Given the description of an element on the screen output the (x, y) to click on. 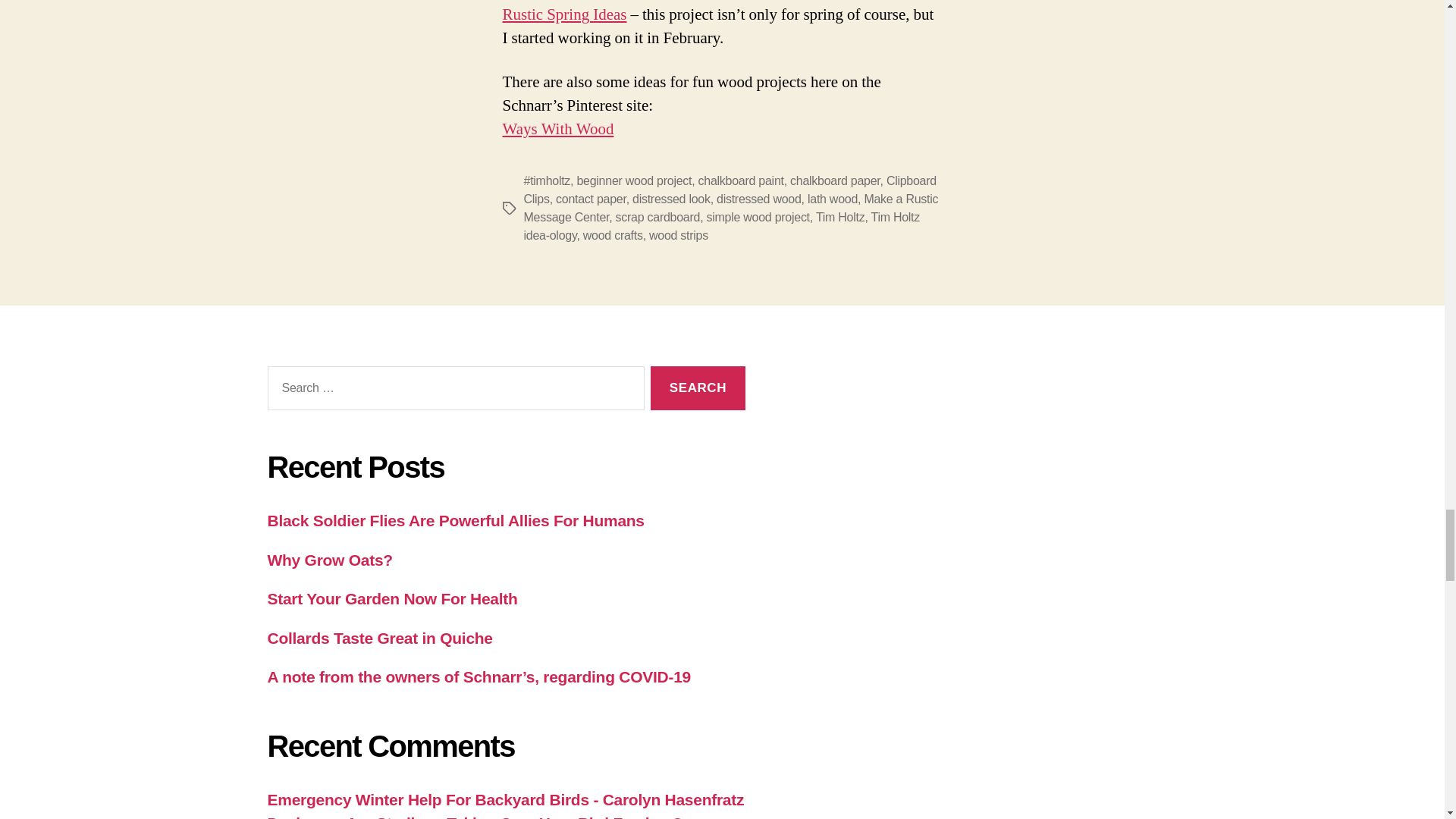
beginner wood project (633, 180)
Rustic Spring Ideas (564, 14)
Search (697, 388)
Search (697, 388)
Ways With Wood (557, 128)
